Given the description of an element on the screen output the (x, y) to click on. 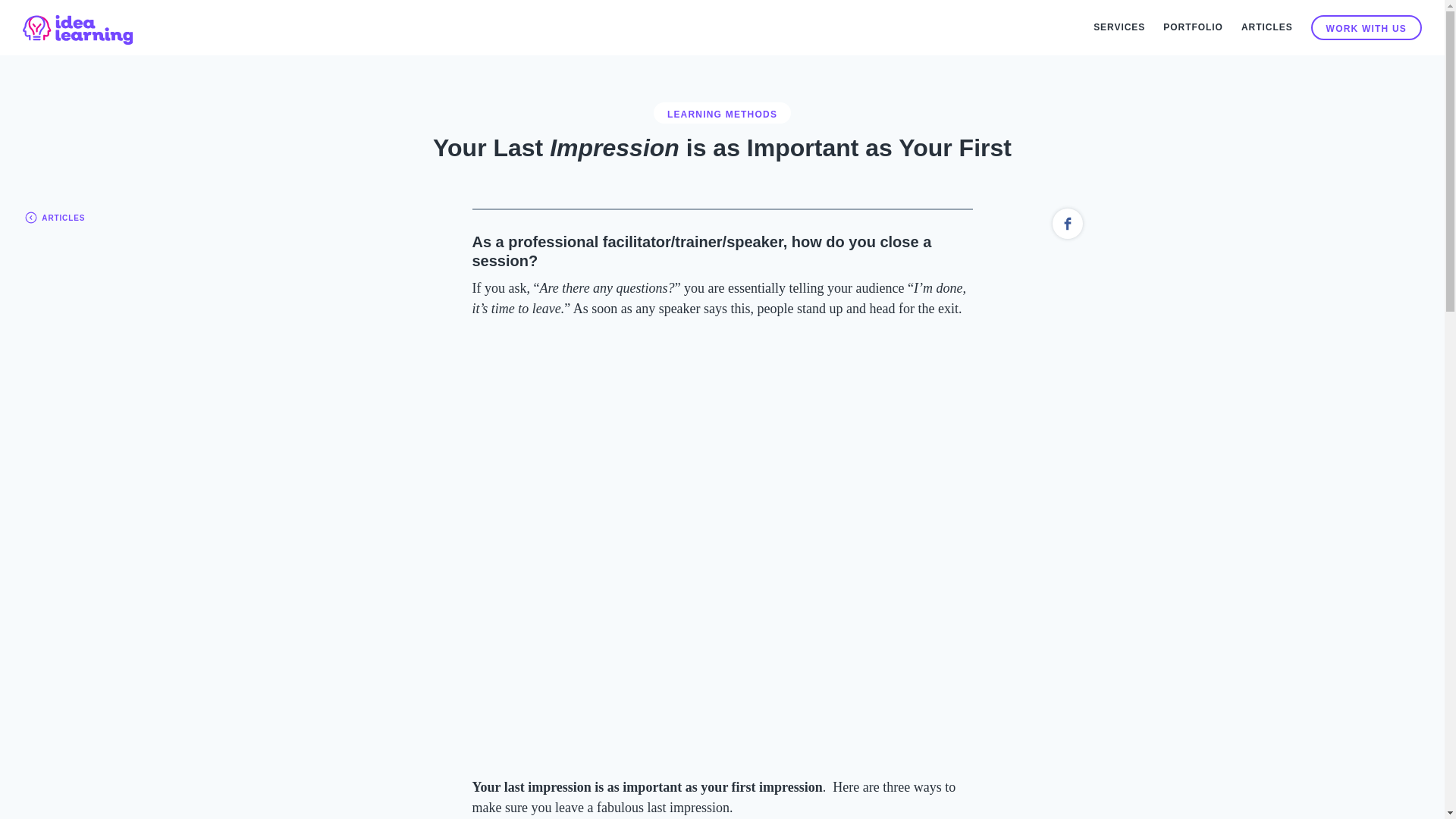
ARTICLES (53, 215)
LEARNING METHODS (721, 112)
SERVICES (1118, 27)
WORK WITH US (1366, 27)
Share on Facebook (1067, 223)
Facebook (1067, 223)
PORTFOLIO (1193, 27)
ARTICLES (1266, 27)
Facebook (1067, 223)
Home (78, 27)
Idea Learning (78, 27)
